Given the description of an element on the screen output the (x, y) to click on. 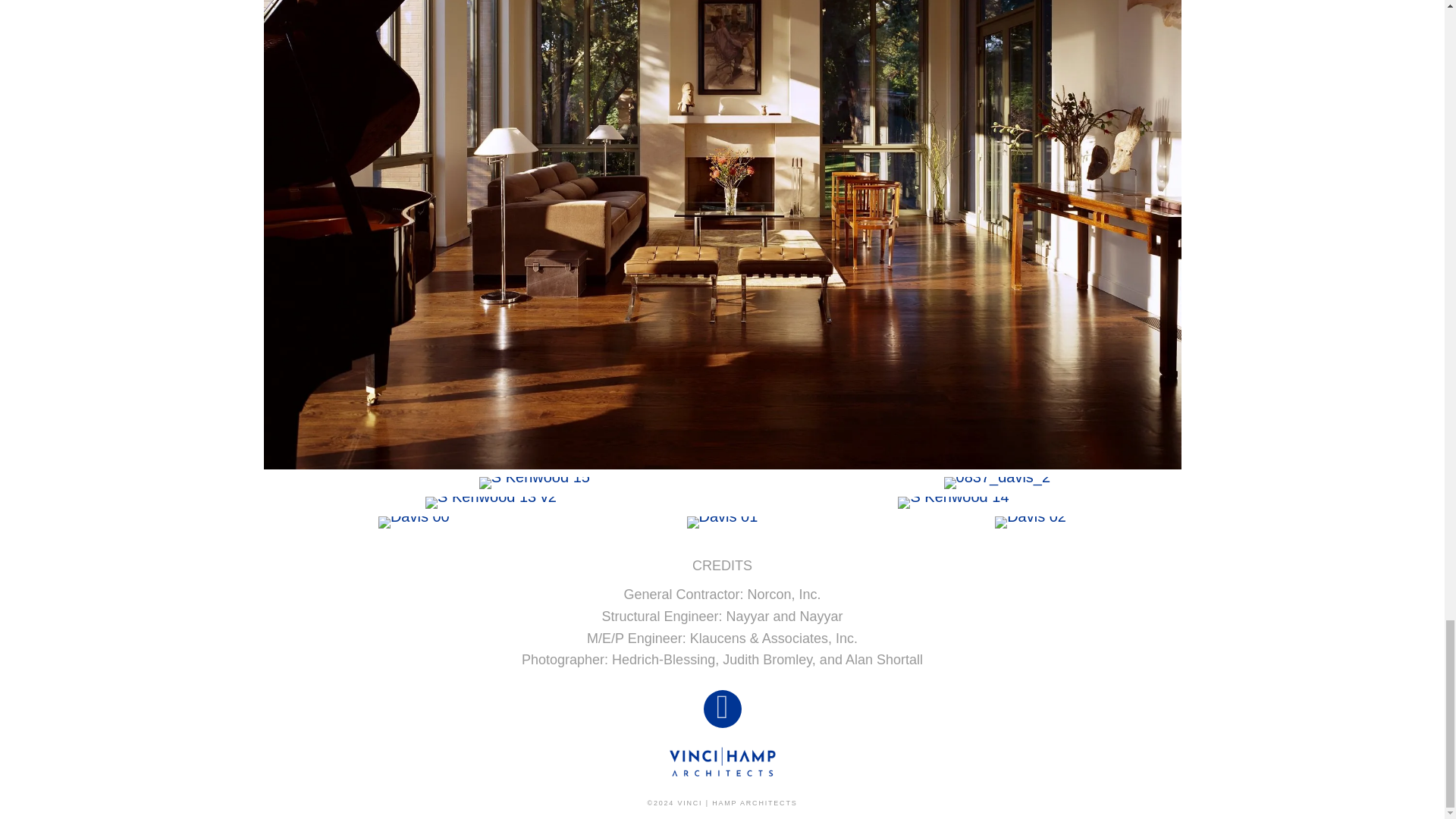
S Kenwood 13 v2 (490, 502)
Davis 00 (413, 522)
Davis 02 (1029, 522)
S Kenwood 15 (534, 482)
S Kenwood 14 (953, 502)
Davis 01 (722, 522)
